Given the description of an element on the screen output the (x, y) to click on. 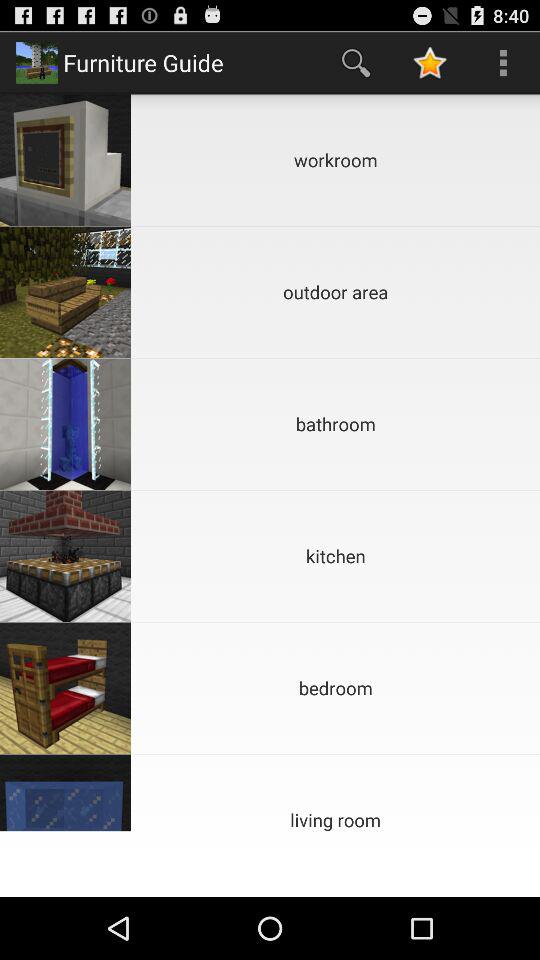
flip until living room (335, 792)
